Given the description of an element on the screen output the (x, y) to click on. 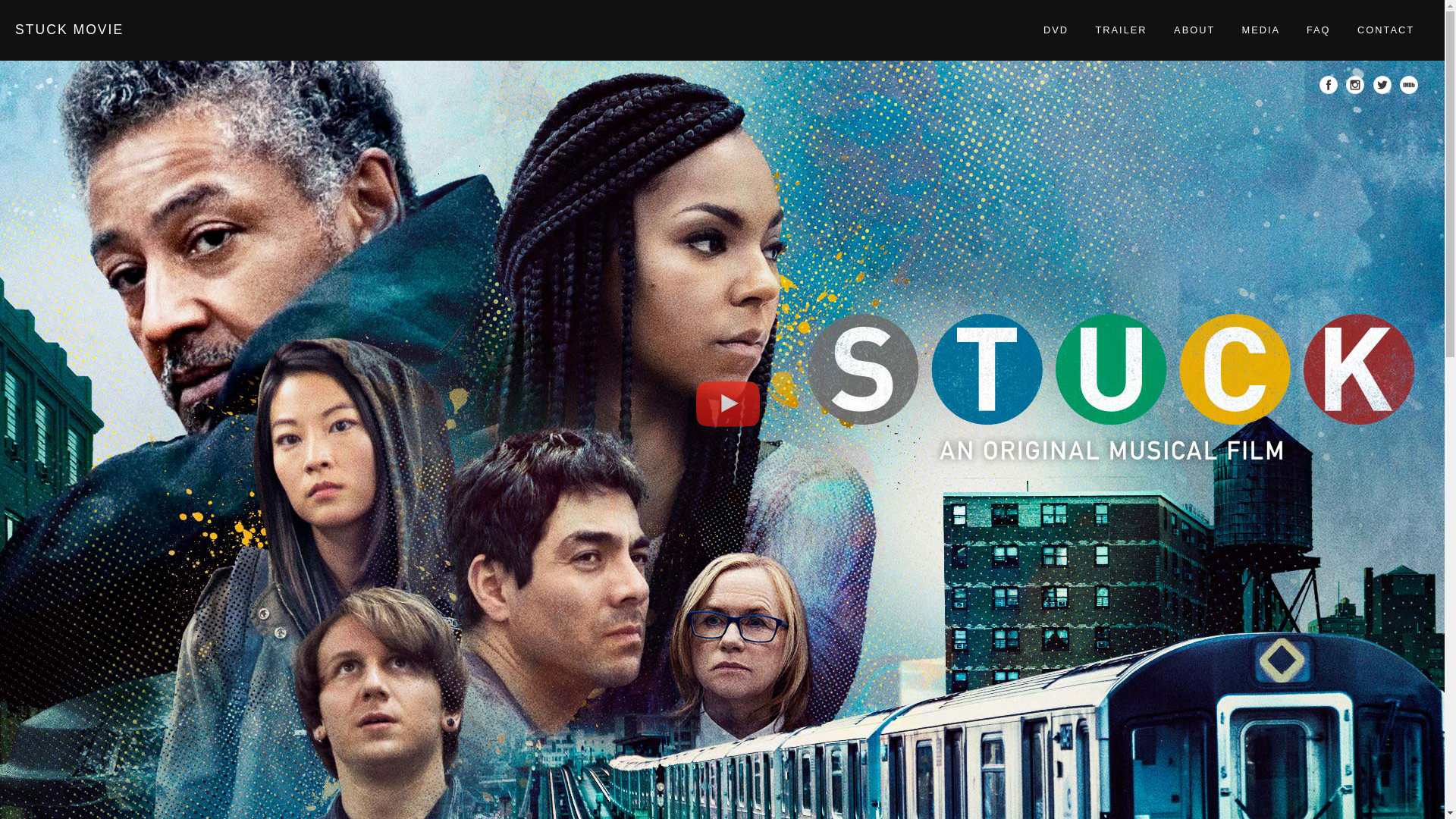
Stuck movie (68, 29)
Watch the Stuck trailer now! (727, 408)
Get the Stuck DVD now! (1055, 30)
Learn more about Stuck. (1193, 30)
DVD (1055, 30)
Watch the Stuck trailer. (1120, 30)
Contact Stuck. (1384, 30)
ABOUT (1193, 30)
TRAILER (1120, 30)
STUCK MOVIE (68, 29)
Frequently asked questions about Stuck. (1318, 30)
Stuck IMDB (1410, 89)
FAQ (1318, 30)
Stuck Twitter (1383, 89)
Stuck Instagram (1356, 89)
